Given the description of an element on the screen output the (x, y) to click on. 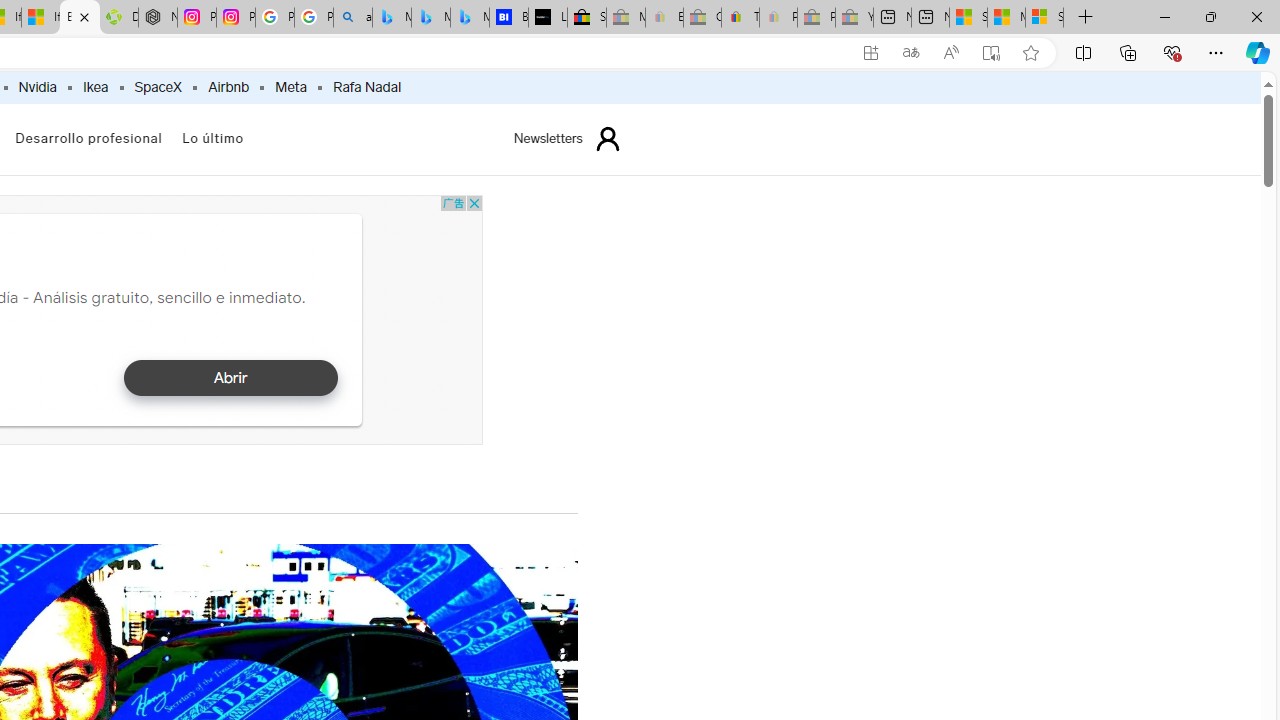
Desarrollo profesional (88, 139)
Abrir (229, 377)
Desarrollo profesional (88, 138)
alabama high school quarterback dies - Search (353, 17)
SpaceX (157, 88)
Threats and offensive language policy | eBay (740, 17)
